Given the description of an element on the screen output the (x, y) to click on. 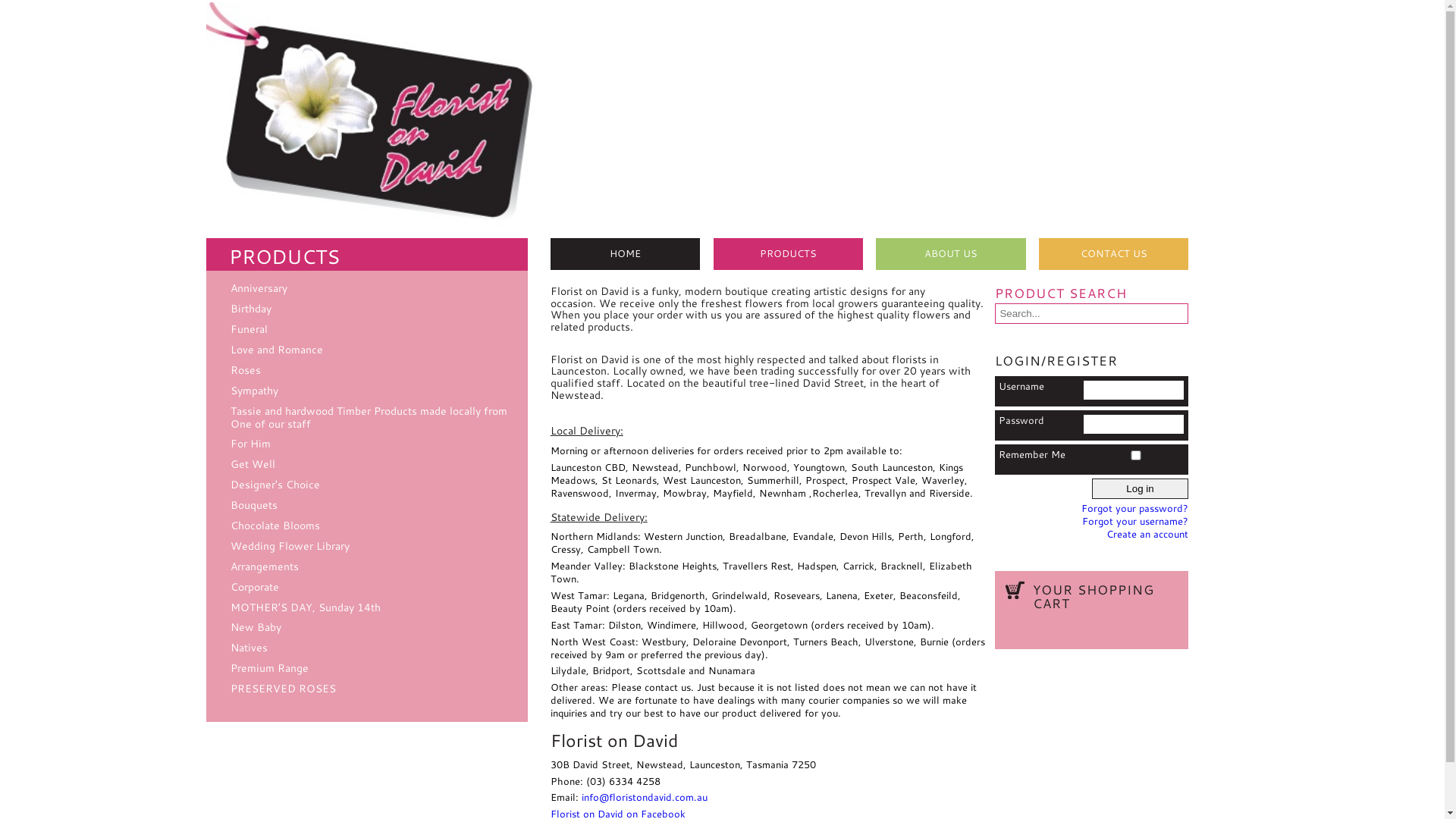
Arrangements Element type: text (264, 566)
MOTHER'S DAY, Sunday 14th Element type: text (305, 607)
Natives Element type: text (248, 647)
Bouquets Element type: text (253, 504)
Forgot your password? Element type: text (1134, 507)
New Baby Element type: text (255, 626)
Forgot your username? Element type: text (1135, 520)
Birthday Element type: text (250, 308)
Create an account Element type: text (1147, 533)
PRESERVED ROSES Element type: text (282, 688)
Funeral Element type: text (248, 328)
Premium Range Element type: text (269, 667)
Get Well Element type: text (252, 463)
Wedding Flower Library Element type: text (289, 545)
info@floristondavid.com.au Element type: text (644, 796)
Log in Element type: text (1140, 488)
Designer's Choice Element type: text (275, 484)
For Him Element type: text (250, 443)
PRODUCTS Element type: text (787, 253)
Anniversary Element type: text (258, 287)
Roses Element type: text (245, 369)
Sympathy Element type: text (254, 390)
CONTACT US Element type: text (1113, 253)
HOME Element type: text (624, 253)
Love and Romance Element type: text (276, 349)
Chocolate Blooms Element type: text (275, 525)
Corporate Element type: text (254, 586)
home Element type: hover (371, 228)
ABOUT US Element type: text (950, 253)
